Given the description of an element on the screen output the (x, y) to click on. 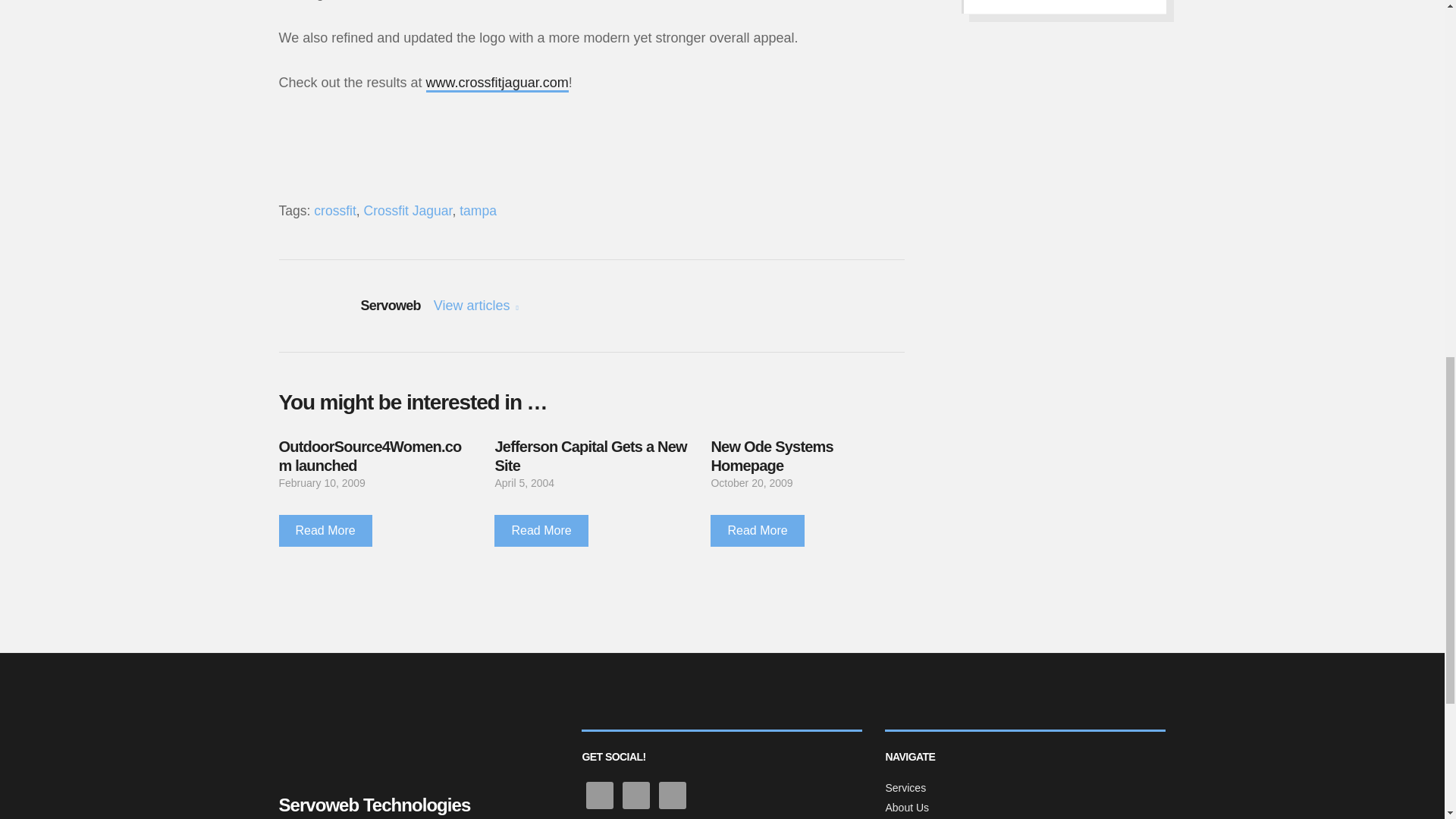
Crossfit Jaguar (408, 210)
tampa (478, 210)
Contact Us (1063, 6)
New Ode Systems Homepage (771, 456)
CrossFit Jaguar (497, 83)
www.crossfitjaguar.com (497, 83)
OutdoorSource4Women.com launched (370, 456)
Read More (541, 531)
Read More (325, 531)
View articles (475, 305)
